Given the description of an element on the screen output the (x, y) to click on. 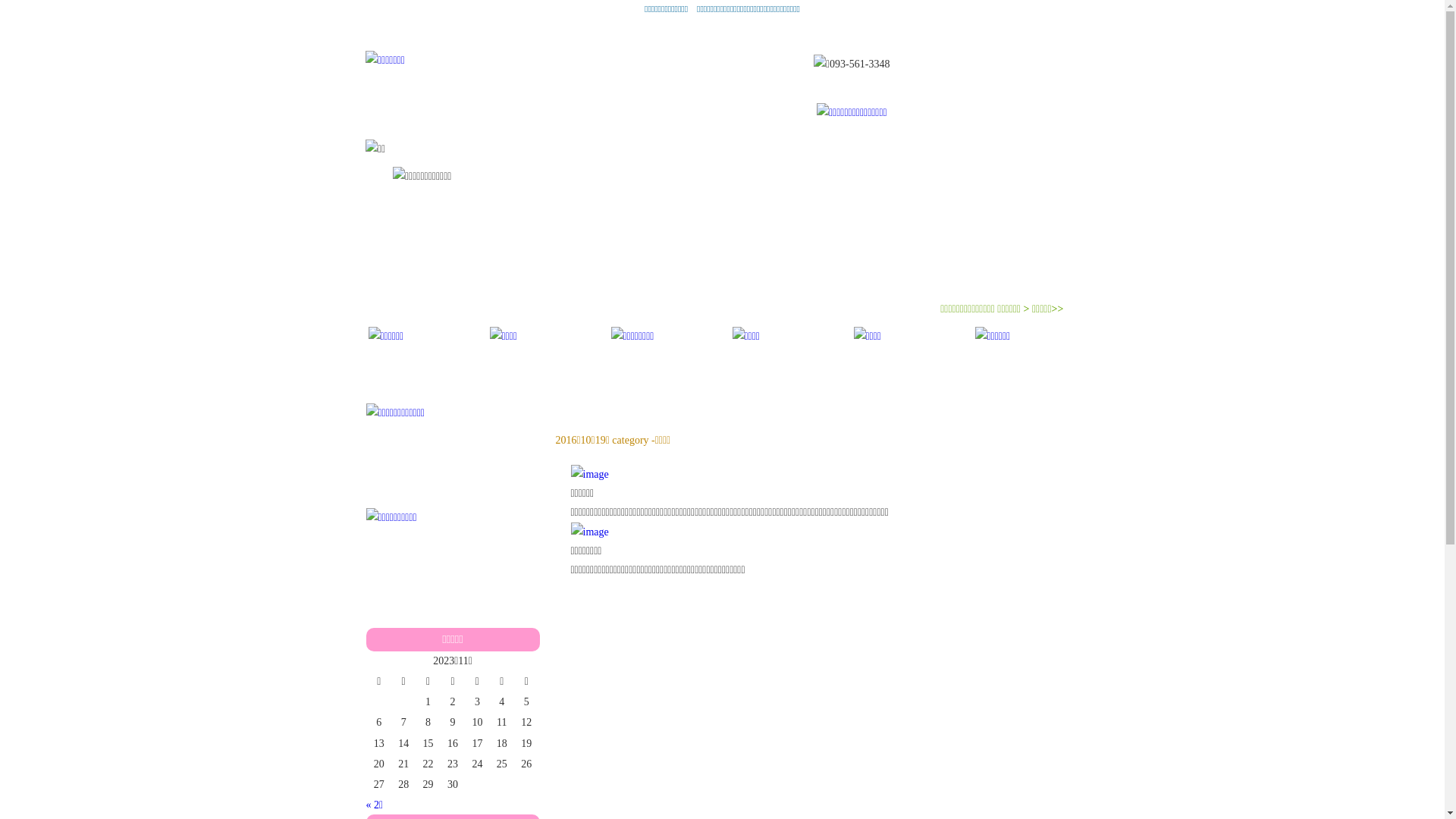
1476852221670.jpg Element type: hover (820, 473)
1476852233370.jpg Element type: hover (820, 531)
